Given the description of an element on the screen output the (x, y) to click on. 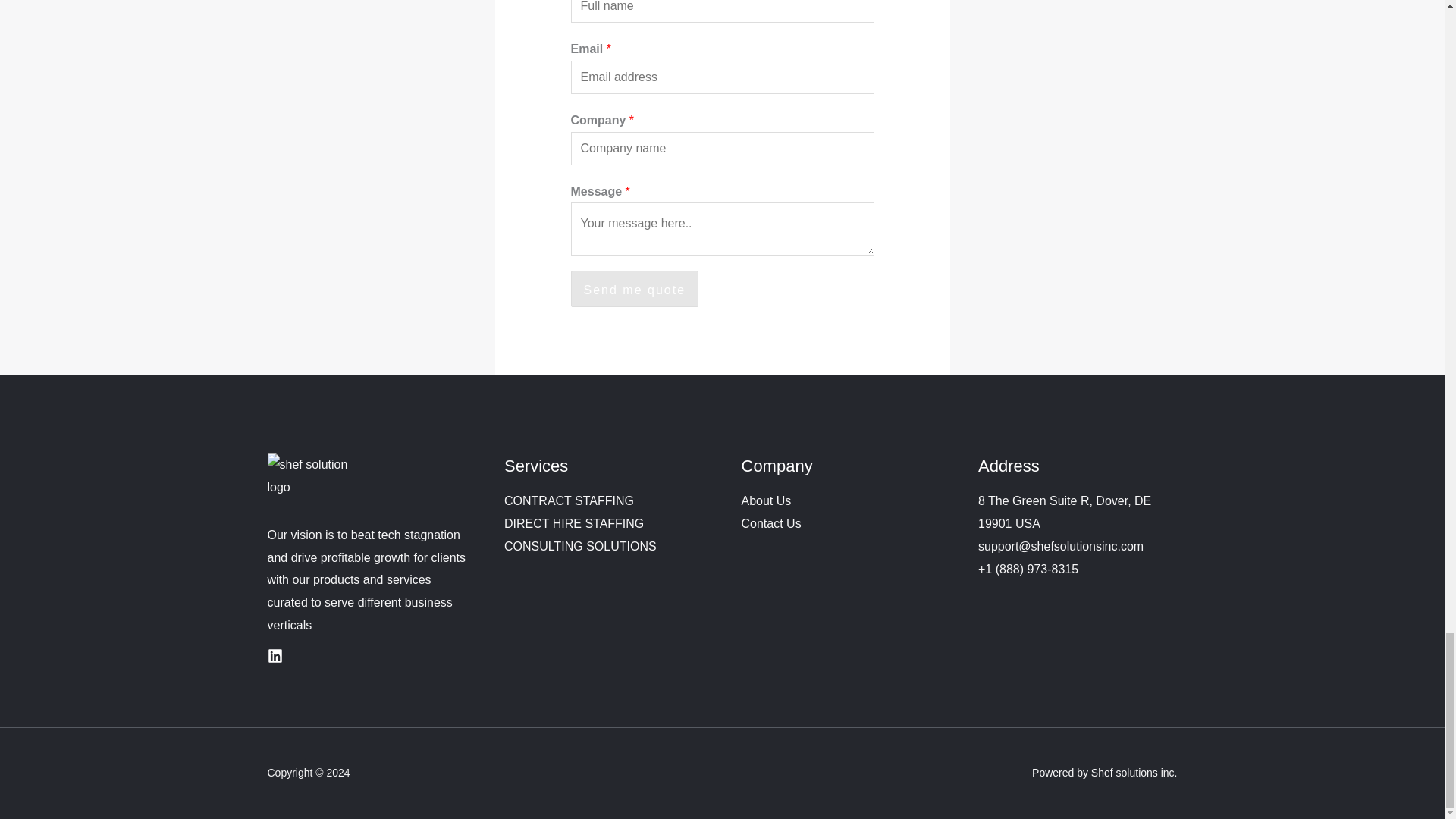
CONSULTING SOLUTIONS (579, 545)
CONTRACT STAFFING (568, 500)
Send me quote (634, 289)
Contact Us (771, 522)
About Us (766, 500)
DIRECT HIRE STAFFING (573, 522)
